Given the description of an element on the screen output the (x, y) to click on. 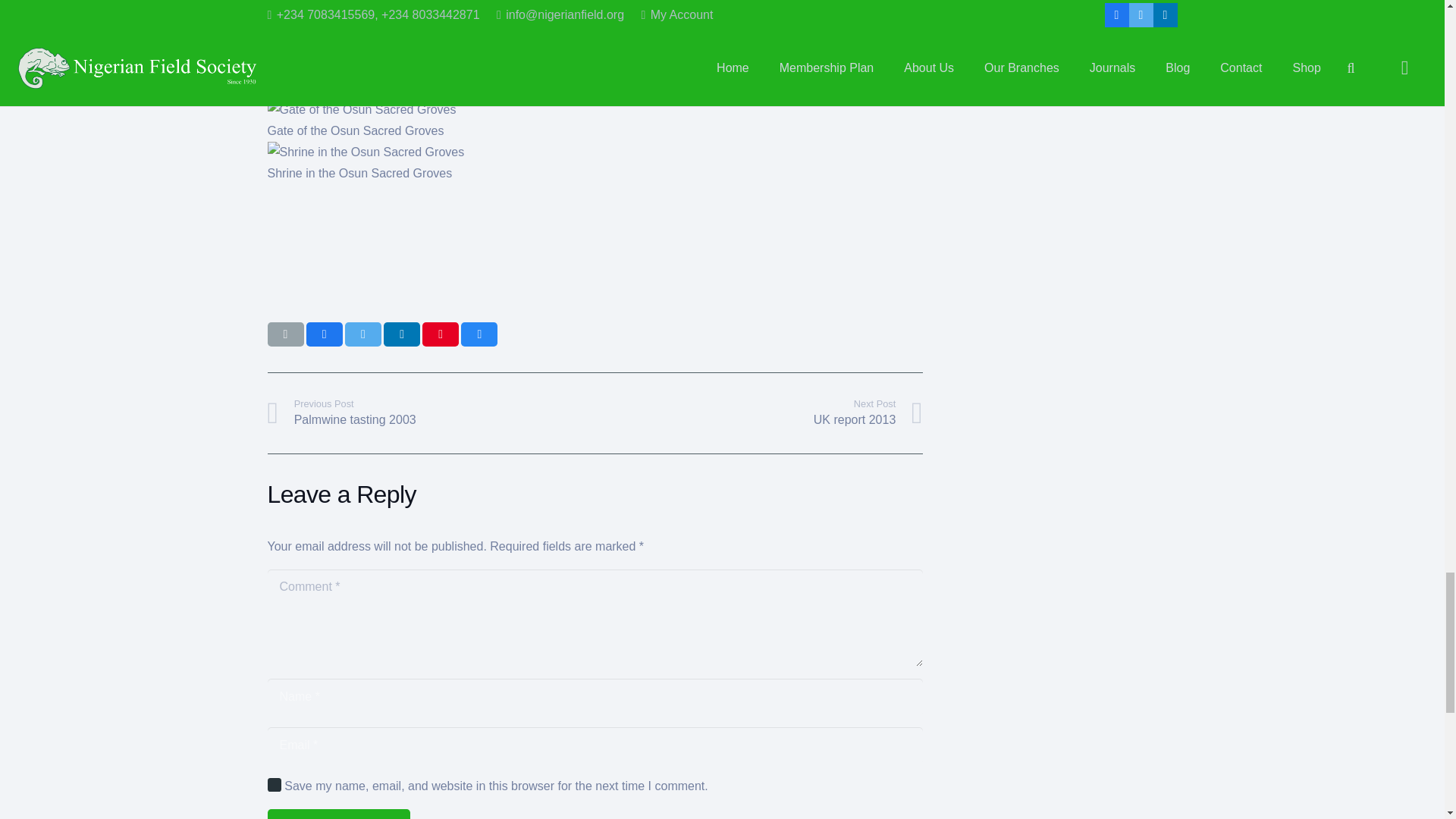
Gate of the Osun Sacred Groves   (360, 109)
Shrine in the Osun Sacred Groves (365, 151)
1 (273, 784)
